Given the description of an element on the screen output the (x, y) to click on. 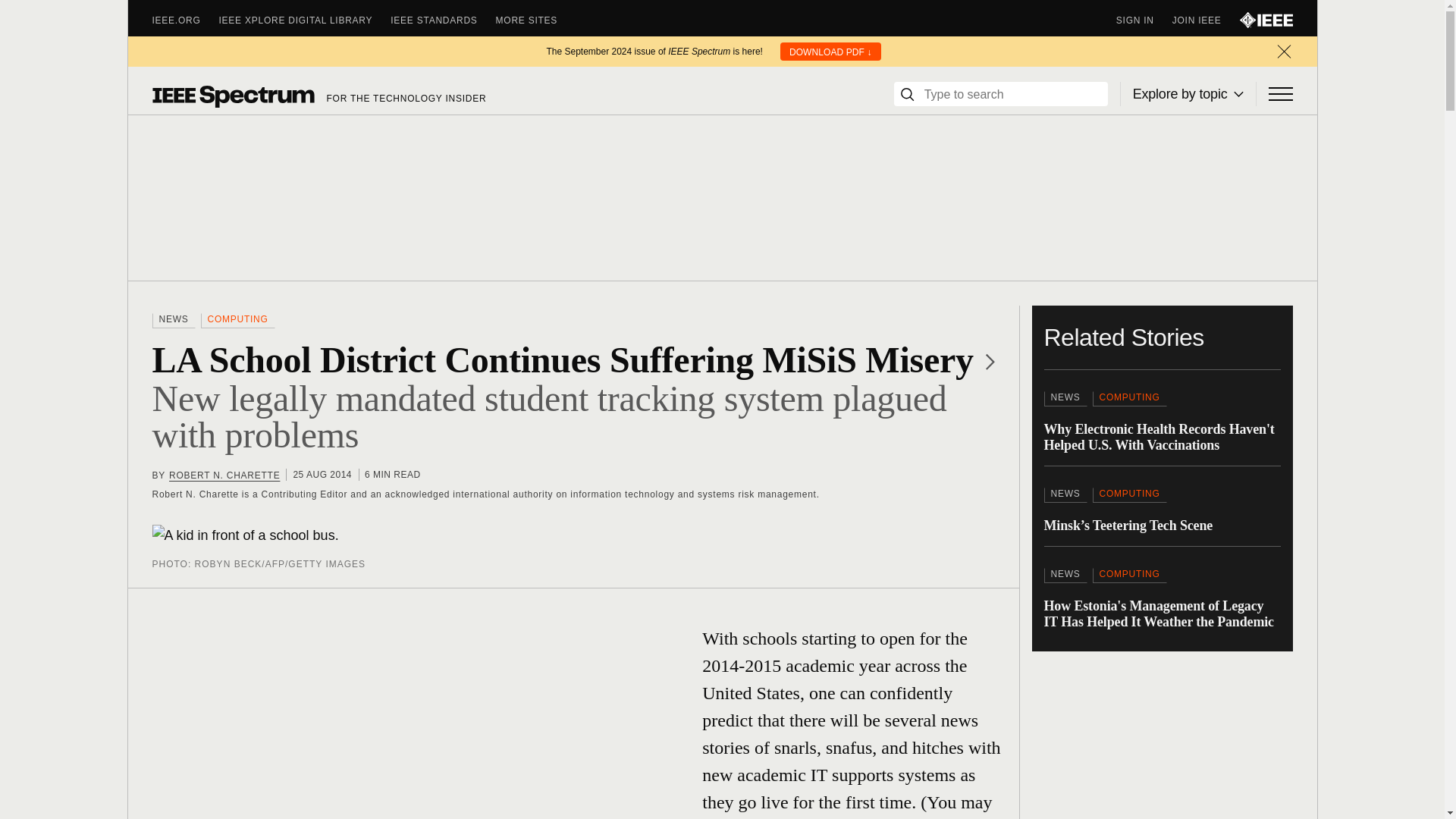
Close bar (1283, 51)
Search (907, 93)
IEEE STANDARDS (442, 20)
IEEE XPLORE DIGITAL LIBRARY (305, 20)
SIGN IN (1144, 20)
IEEE.ORG (184, 20)
MORE SITES (536, 20)
JOIN IEEE (1206, 20)
Spectrum Logo (232, 95)
